Given the description of an element on the screen output the (x, y) to click on. 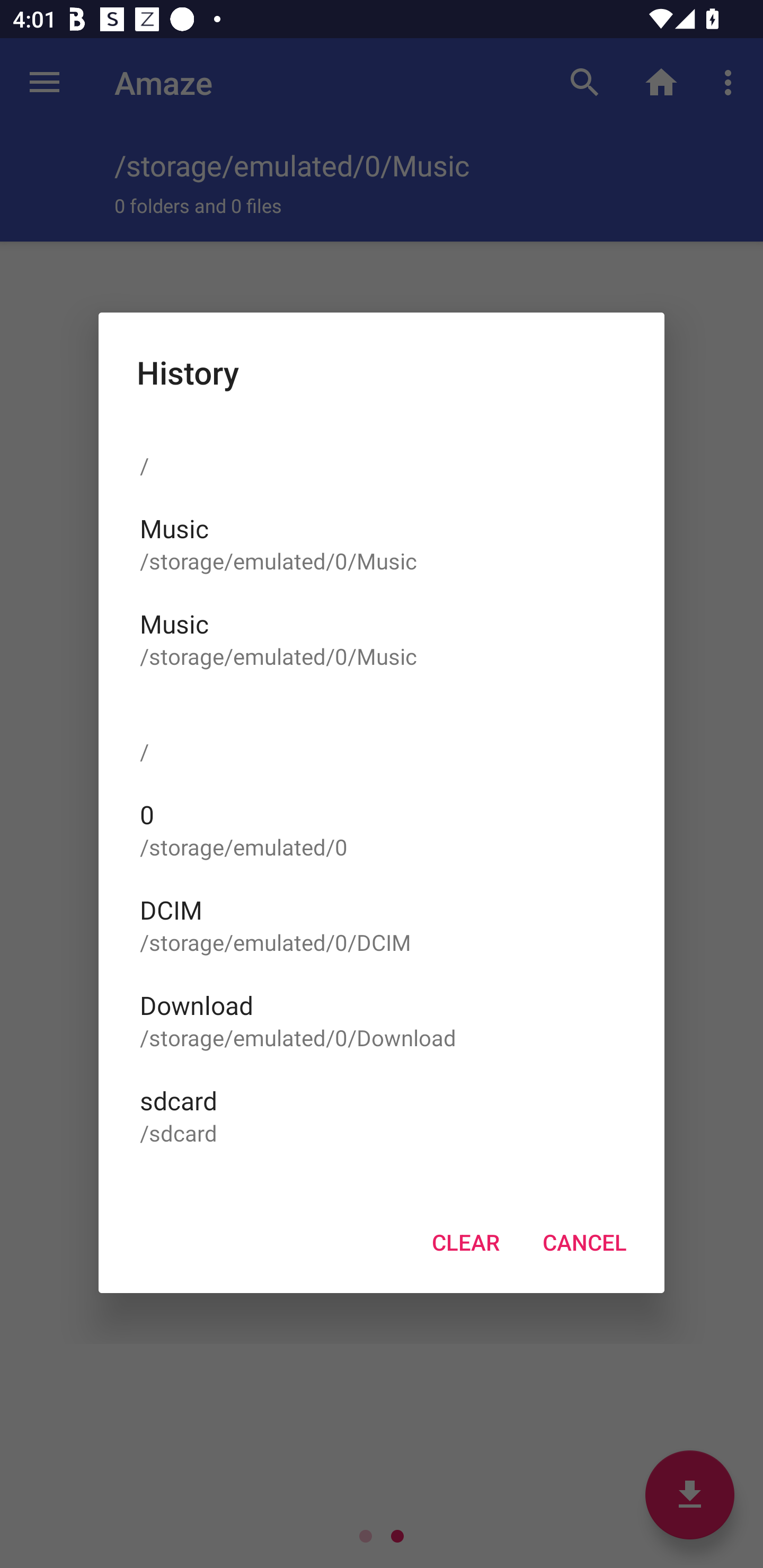
/ (381, 447)
Music /storage/emulated/0/Music (381, 543)
Music /storage/emulated/0/Music (381, 638)
/ (381, 734)
0 /storage/emulated/0 (381, 829)
DCIM /storage/emulated/0/DCIM (381, 924)
Download /storage/emulated/0/Download (381, 1019)
sdcard /sdcard (381, 1115)
CLEAR (465, 1242)
CANCEL (583, 1242)
